Given the description of an element on the screen output the (x, y) to click on. 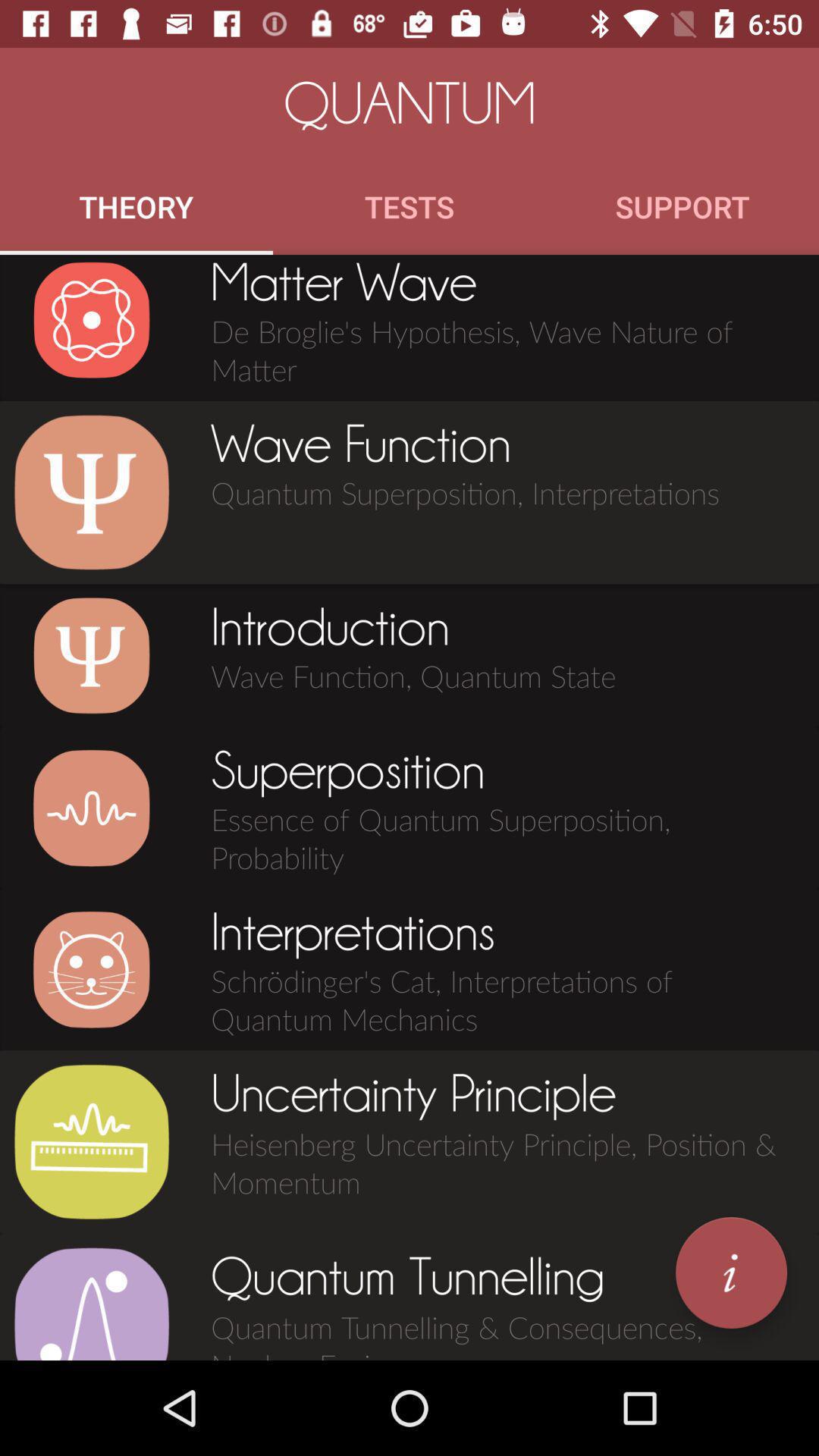
launch the item at the bottom right corner (731, 1272)
